Given the description of an element on the screen output the (x, y) to click on. 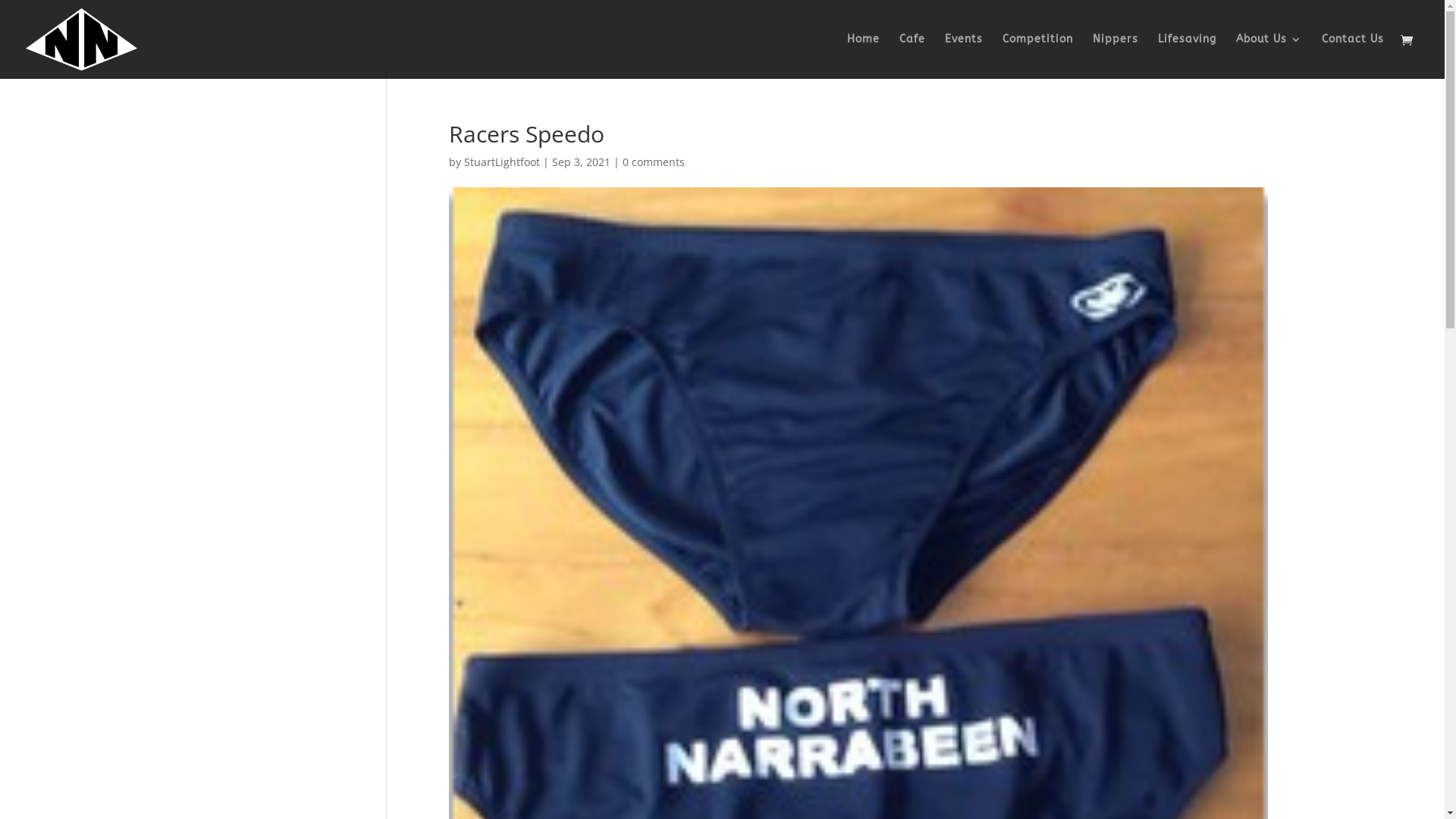
Nippers Element type: text (1115, 56)
About Us Element type: text (1269, 56)
0 comments Element type: text (653, 161)
Events Element type: text (963, 56)
Competition Element type: text (1037, 56)
Lifesaving Element type: text (1186, 56)
StuartLightfoot Element type: text (501, 161)
Home Element type: text (863, 56)
Cafe Element type: text (912, 56)
Contact Us Element type: text (1352, 56)
